Given the description of an element on the screen output the (x, y) to click on. 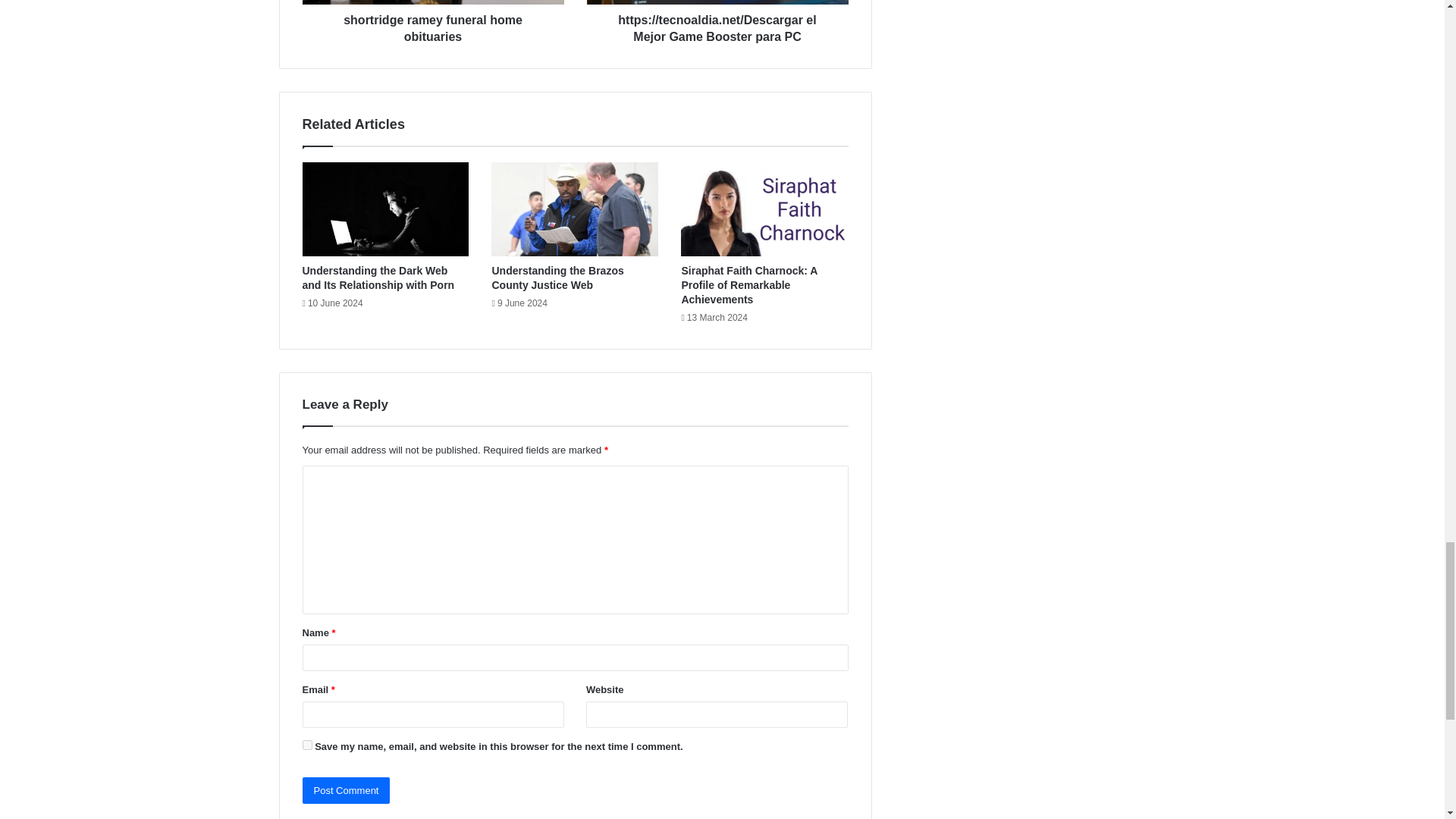
yes (306, 745)
Post Comment (345, 790)
